Given the description of an element on the screen output the (x, y) to click on. 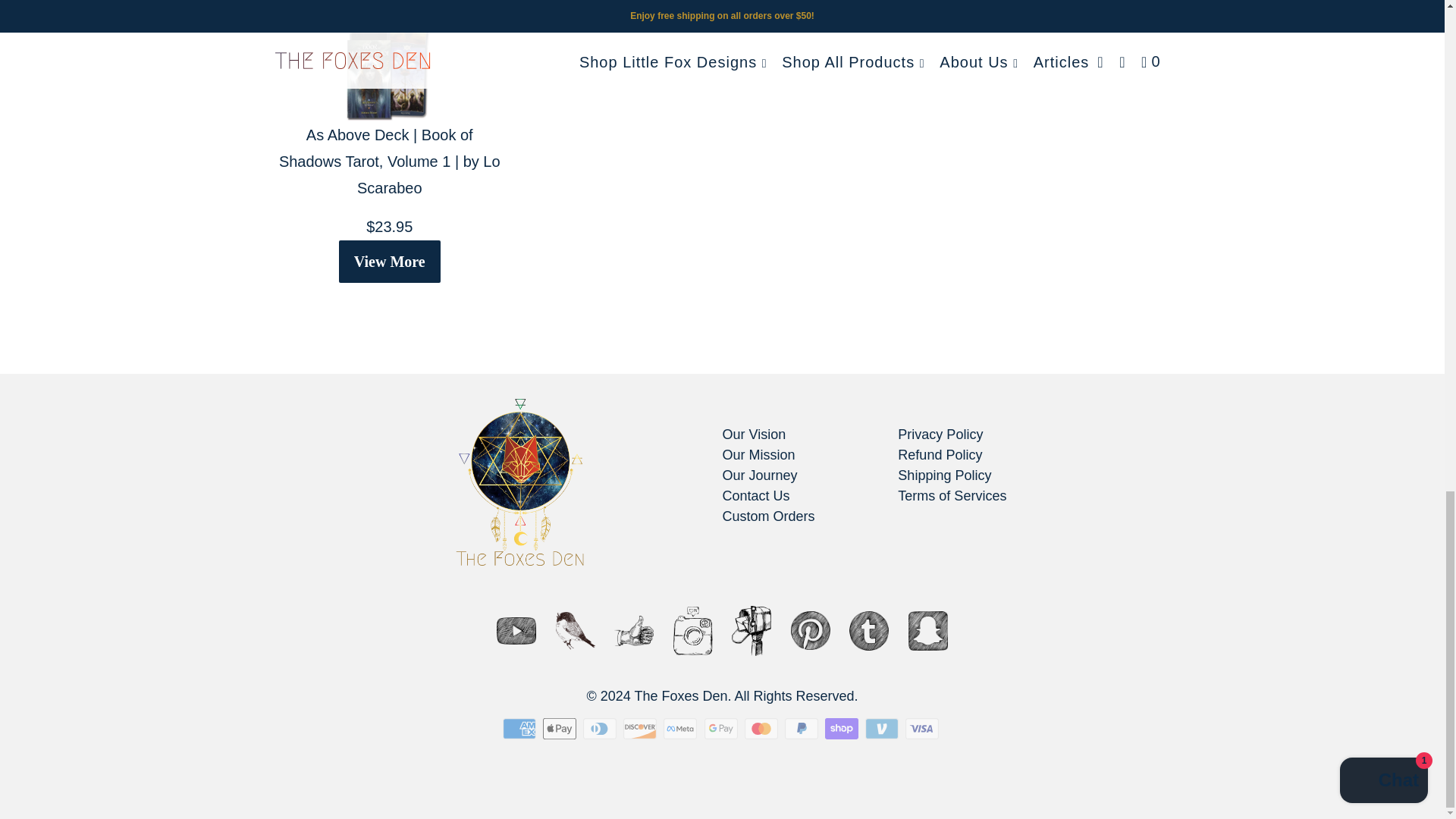
Diners Club (601, 728)
Visa (923, 728)
Shop Pay (843, 728)
Apple Pay (561, 728)
The Foxes Den on Facebook (633, 630)
PayPal (802, 728)
Venmo (882, 728)
Meta Pay (681, 728)
The Foxes Den on YouTube (515, 630)
The Foxes Den on Twitter (575, 630)
American Express (520, 728)
Discover (641, 728)
Mastercard (762, 728)
Google Pay (721, 728)
